Given the description of an element on the screen output the (x, y) to click on. 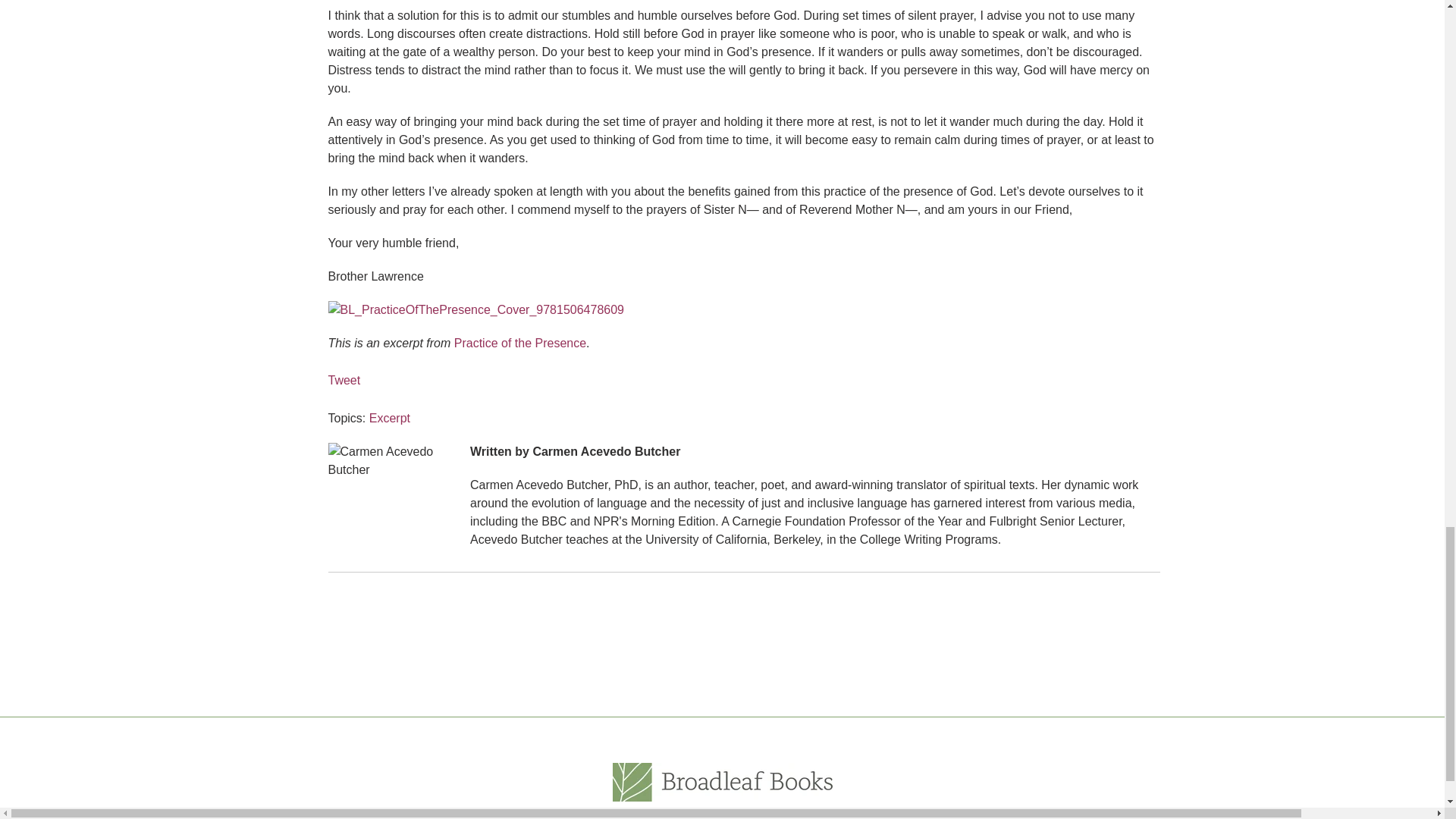
Practice of the Presence (517, 342)
Excerpt (389, 418)
Tweet (343, 379)
Carmen Acevedo Butcher (605, 451)
